Given the description of an element on the screen output the (x, y) to click on. 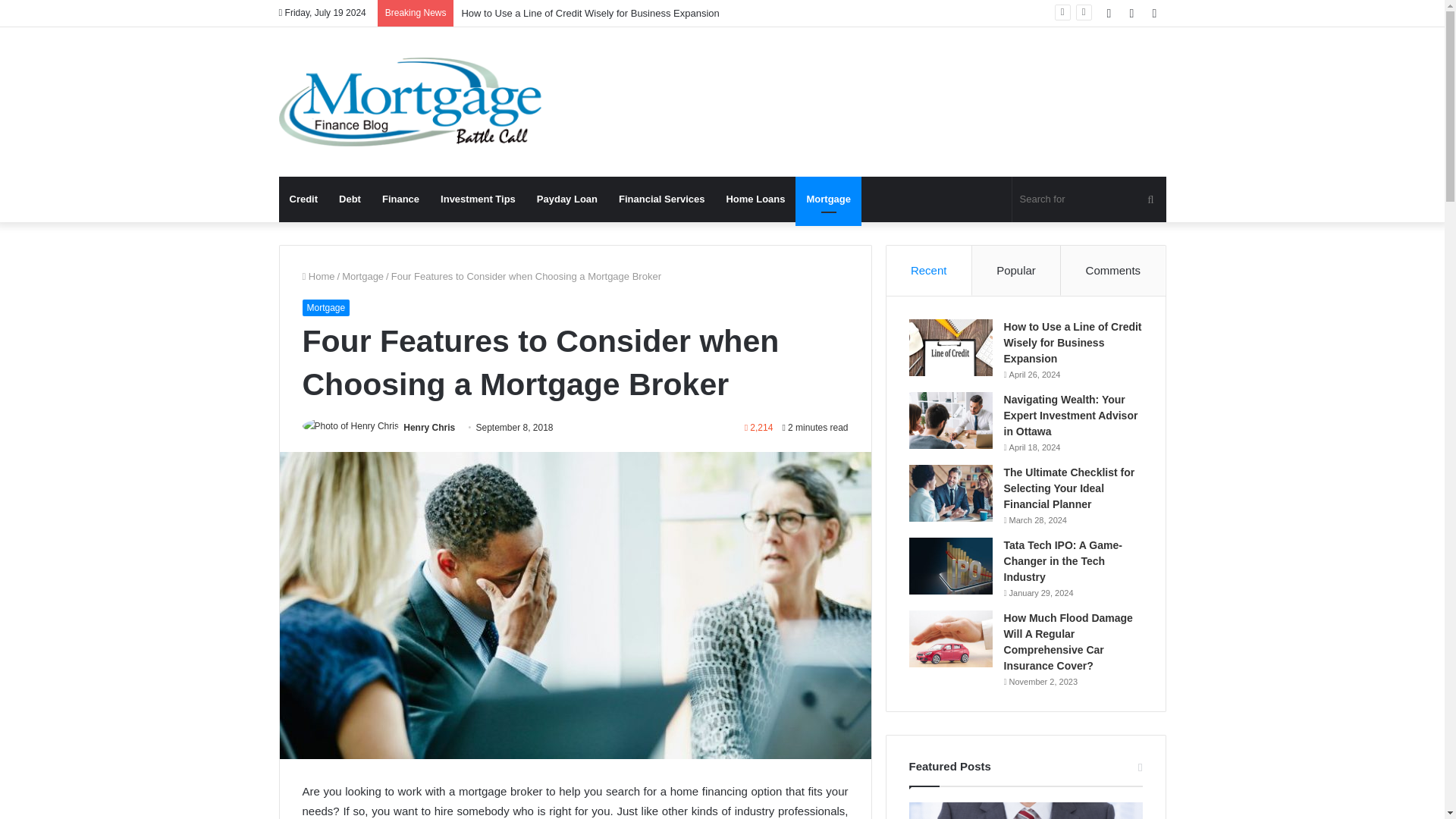
Finance (400, 198)
Payday Loan (566, 198)
Home (317, 276)
Henry Chris (428, 427)
Mortgage (827, 198)
Henry Chris (428, 427)
How to Use a Line of Credit Wisely for Business Expansion (590, 12)
Debt (350, 198)
Investment Tips (477, 198)
Credit (304, 198)
Home Loans (754, 198)
Advertisement (873, 76)
Search for (1088, 198)
Mortgage (363, 276)
Financial Services (661, 198)
